Given the description of an element on the screen output the (x, y) to click on. 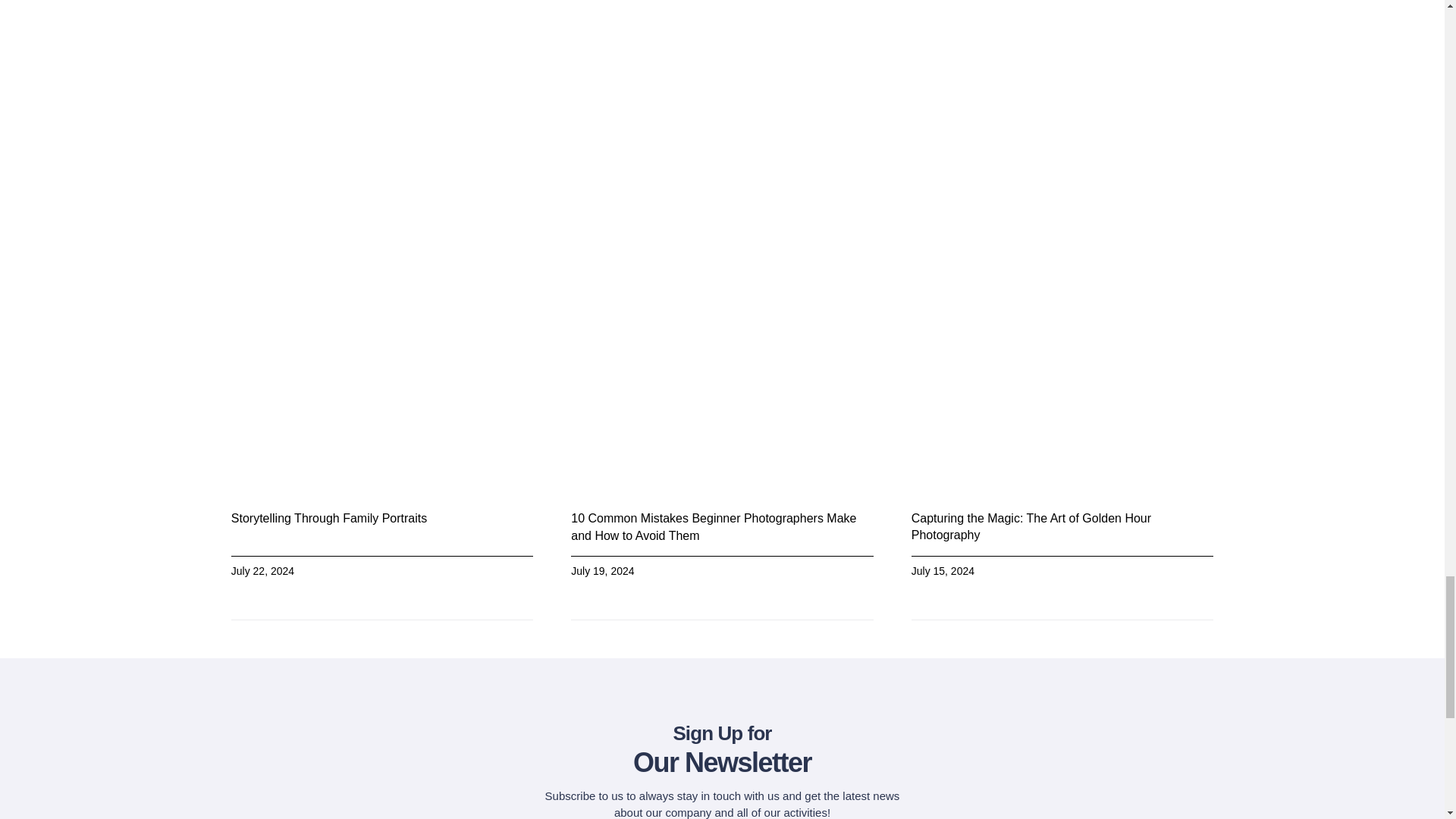
Capturing the Magic: The Art of Golden Hour Photography (1031, 526)
Storytelling Through Family Portraits (328, 517)
